Given the description of an element on the screen output the (x, y) to click on. 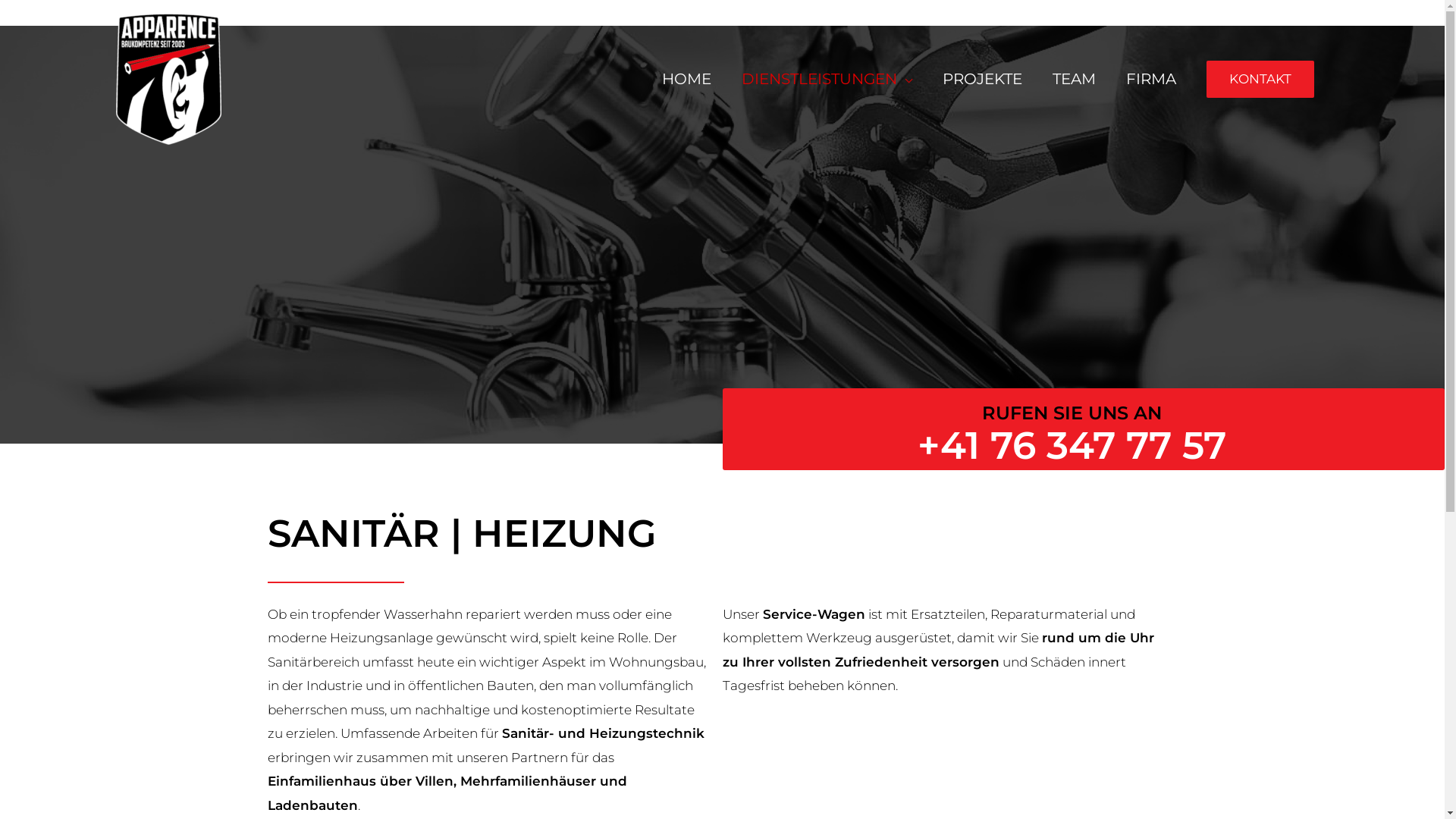
DIENSTLEISTUNGEN Element type: text (826, 78)
PROJEKTE Element type: text (981, 78)
FIRMA Element type: text (1150, 78)
HOME Element type: text (685, 78)
+41 76 347 77 57 Element type: text (1071, 445)
TEAM Element type: text (1073, 78)
KONTAKT Element type: text (1259, 78)
